Given the description of an element on the screen output the (x, y) to click on. 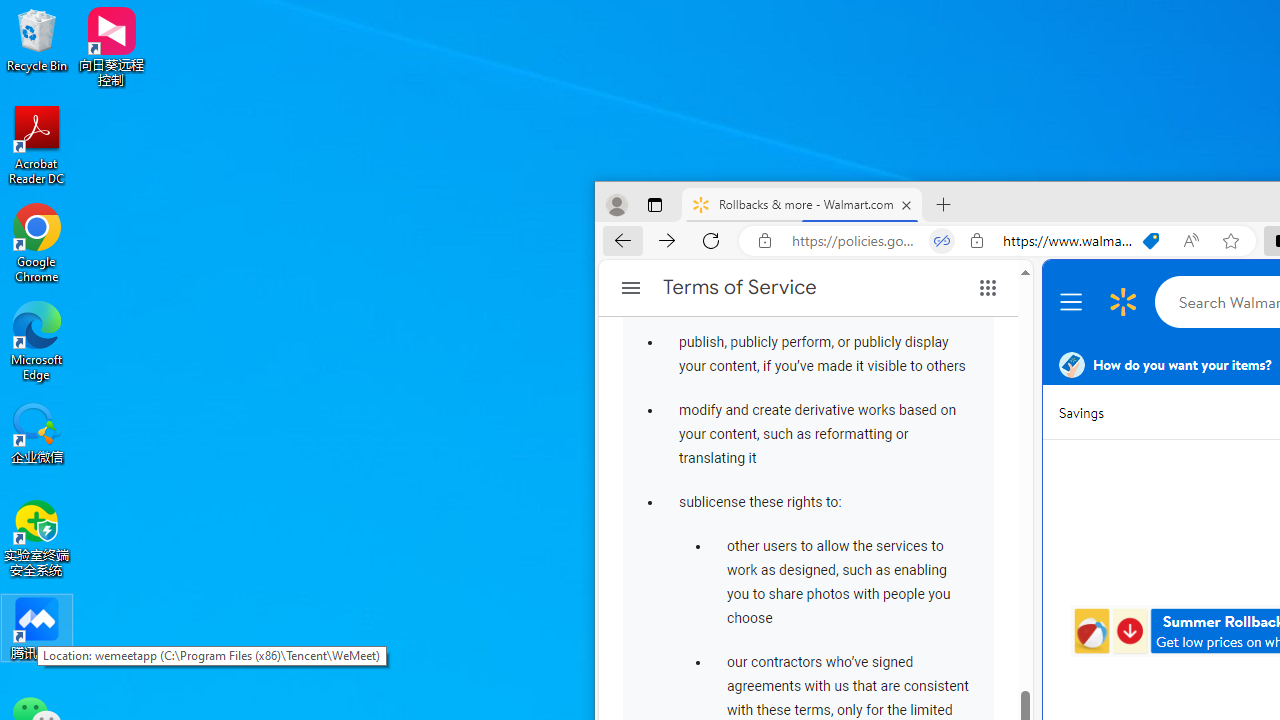
Acrobat Reader DC (37, 144)
Microsoft Edge (37, 340)
Google Chrome (37, 242)
New Text Document (861, 340)
Recycle Bin (37, 39)
